Given the description of an element on the screen output the (x, y) to click on. 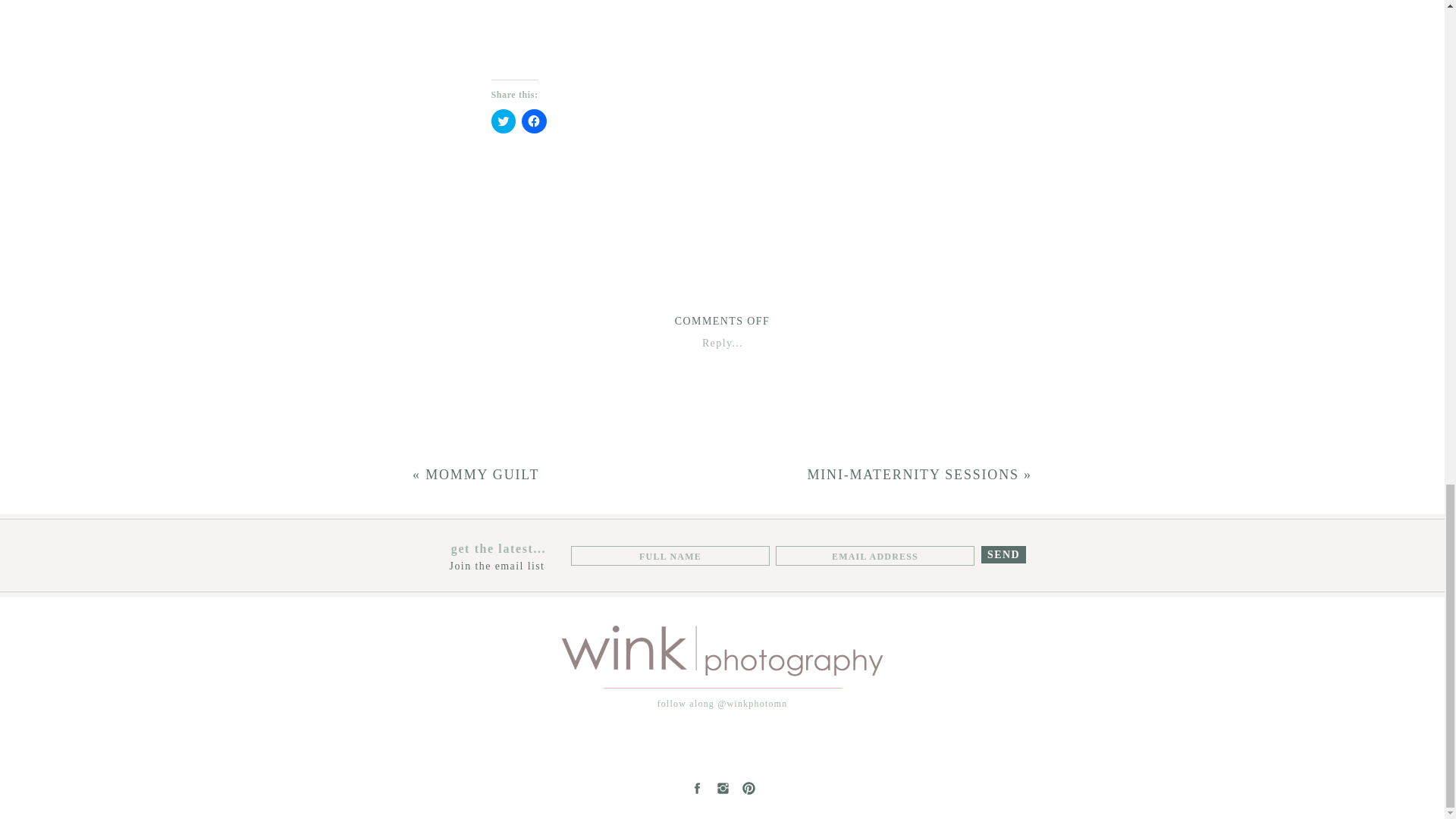
MINI-MATERNITY SESSIONS (911, 474)
Click to share on Facebook (534, 120)
MOMMY GUILT (481, 474)
SEND (1003, 554)
Click to share on Twitter (504, 120)
